Given the description of an element on the screen output the (x, y) to click on. 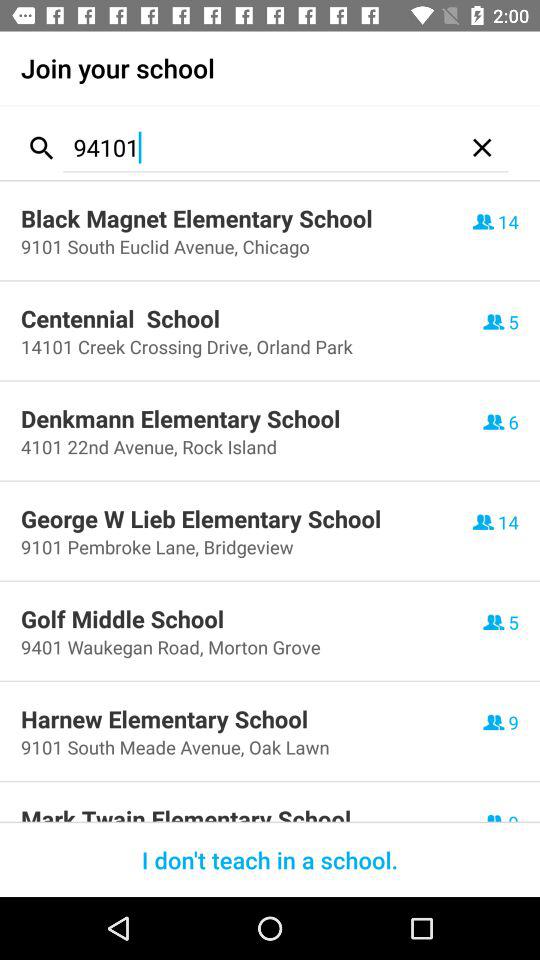
click the i don t (270, 859)
